Given the description of an element on the screen output the (x, y) to click on. 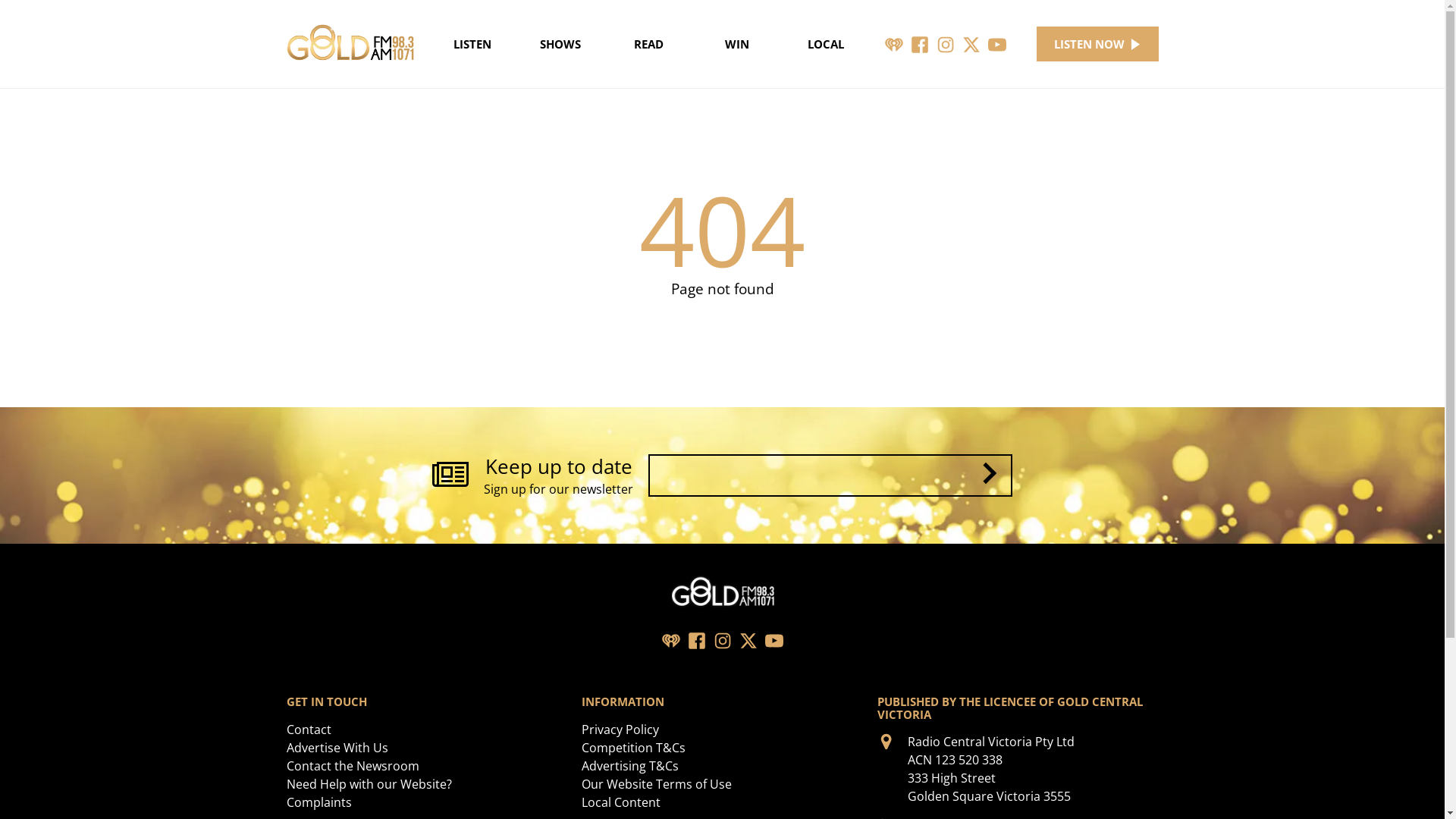
Privacy Policy Element type: text (619, 729)
Facebook Element type: text (919, 43)
LISTEN NOW Element type: text (1097, 44)
YouTube Element type: text (773, 639)
Twitter/X Element type: text (971, 43)
iHeart Element type: text (670, 639)
Twitter/X Element type: text (747, 639)
SHOWS Element type: text (560, 43)
Instagram Element type: text (721, 639)
Contact Element type: text (308, 729)
YouTube Element type: text (997, 43)
Contact the Newsroom Element type: text (352, 765)
Need Help with our Website? Element type: text (368, 783)
READ Element type: text (648, 43)
LISTEN Element type: text (471, 43)
Advertising T&Cs Element type: text (629, 765)
iHeart Element type: text (893, 43)
Facebook Element type: text (696, 639)
Local Content Element type: text (620, 801)
Our Website Terms of Use Element type: text (656, 783)
LOCAL Element type: text (825, 43)
Competition T&Cs Element type: text (633, 747)
Complaints Element type: text (318, 801)
WIN Element type: text (737, 43)
Advertise With Us Element type: text (337, 747)
Instagram Element type: text (945, 43)
